Given the description of an element on the screen output the (x, y) to click on. 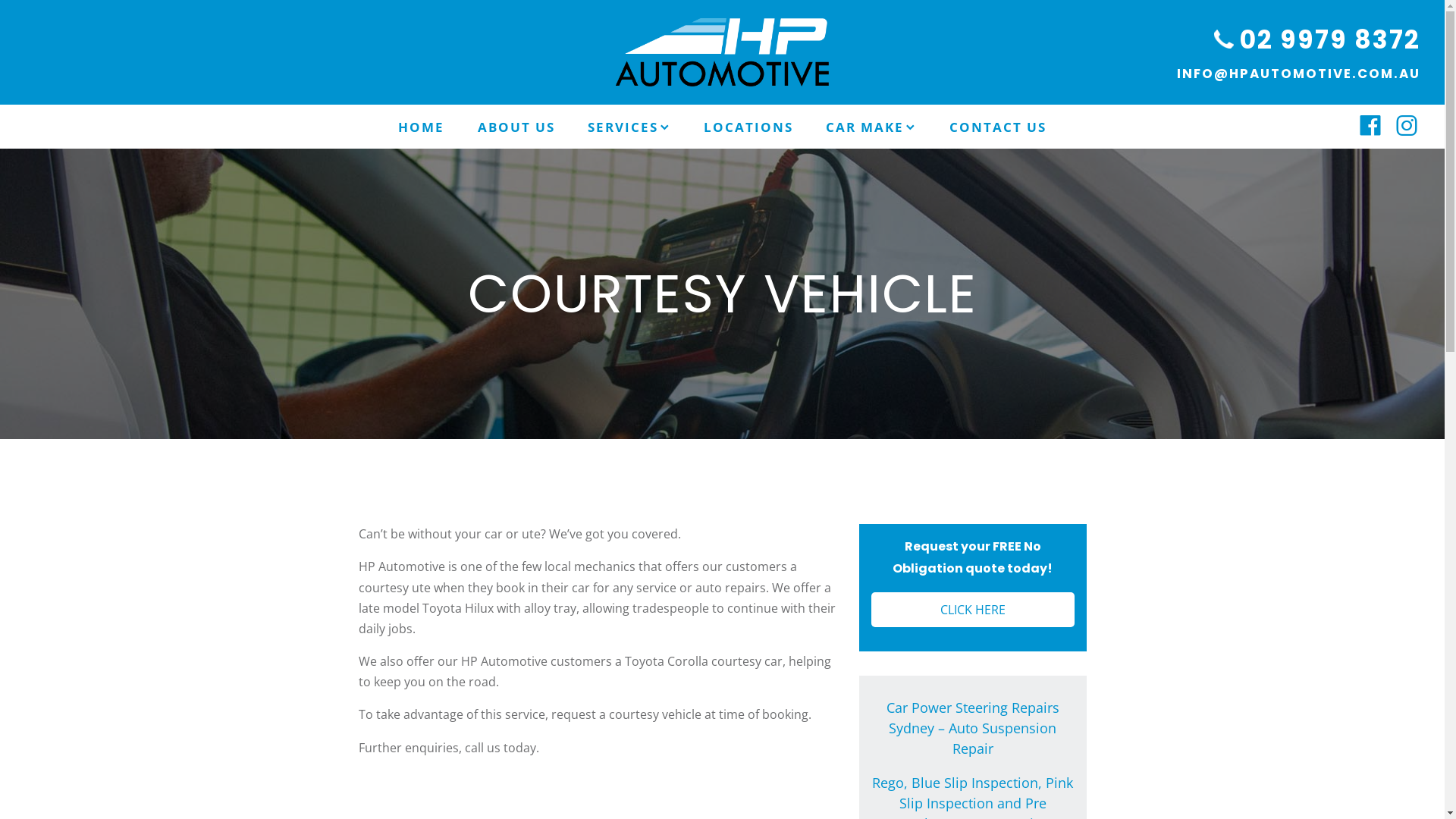
ABOUT US Element type: text (516, 127)
INFO@HPAUTOMOTIVE.COM.AU Element type: text (1298, 73)
CLICK HERE Element type: text (971, 609)
CONTACT US Element type: text (997, 127)
Return to homepage Element type: hover (722, 52)
HOME Element type: text (421, 127)
CAR MAKE Element type: text (871, 127)
SERVICES Element type: text (629, 127)
02 9979 8372 Element type: text (1317, 40)
LOCATIONS Element type: text (748, 127)
